Given the description of an element on the screen output the (x, y) to click on. 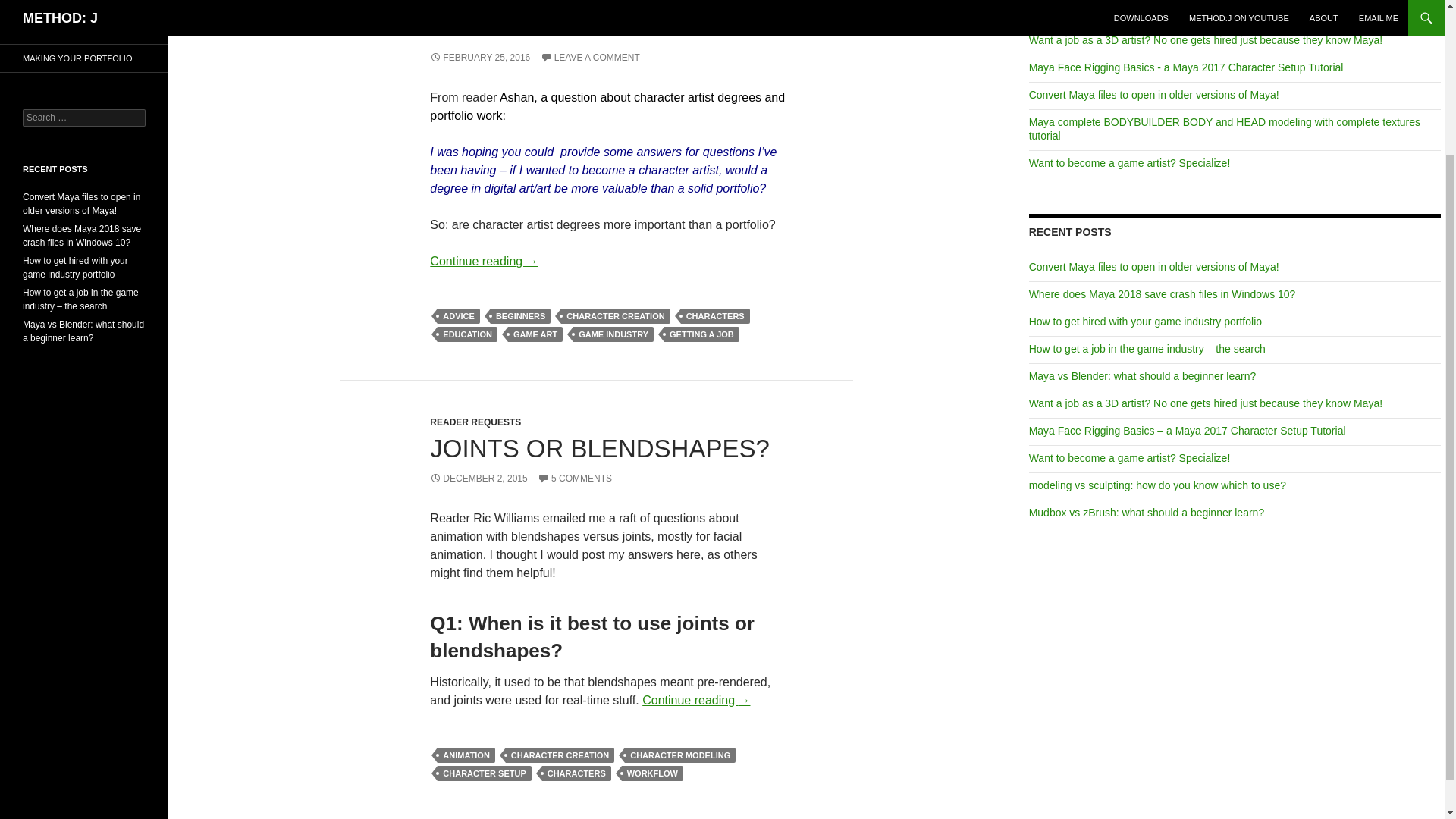
Mudbox tips for beginners (1090, 12)
ANIMATION (466, 754)
FEBRUARY 25, 2016 (479, 57)
CHARACTERS (576, 773)
JOINTS OR BLENDSHAPES? (598, 448)
CHARACTERS (715, 315)
CHARACTER CREATION (559, 754)
WORKFLOW (651, 773)
CHARACTER SETUP (484, 773)
BEGINNERS (520, 315)
GAME ART (535, 334)
5 COMMENTS (574, 478)
READER REQUEST: CHARACTER ARTIST DEGREES VERSUS PORTFOLIO? (554, 20)
ADVICE (459, 315)
DECEMBER 2, 2015 (478, 478)
